Given the description of an element on the screen output the (x, y) to click on. 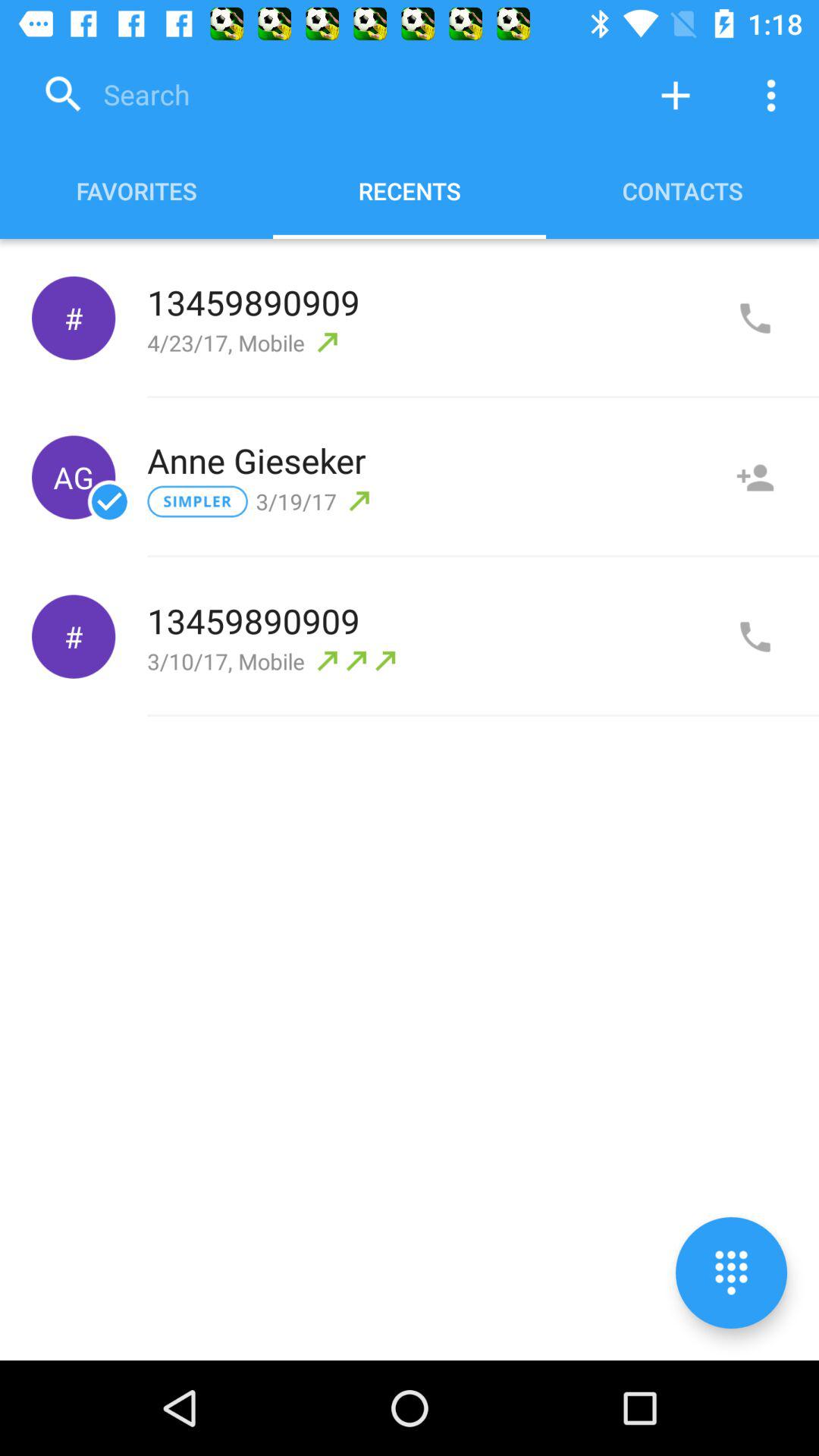
enter search query (329, 95)
